Given the description of an element on the screen output the (x, y) to click on. 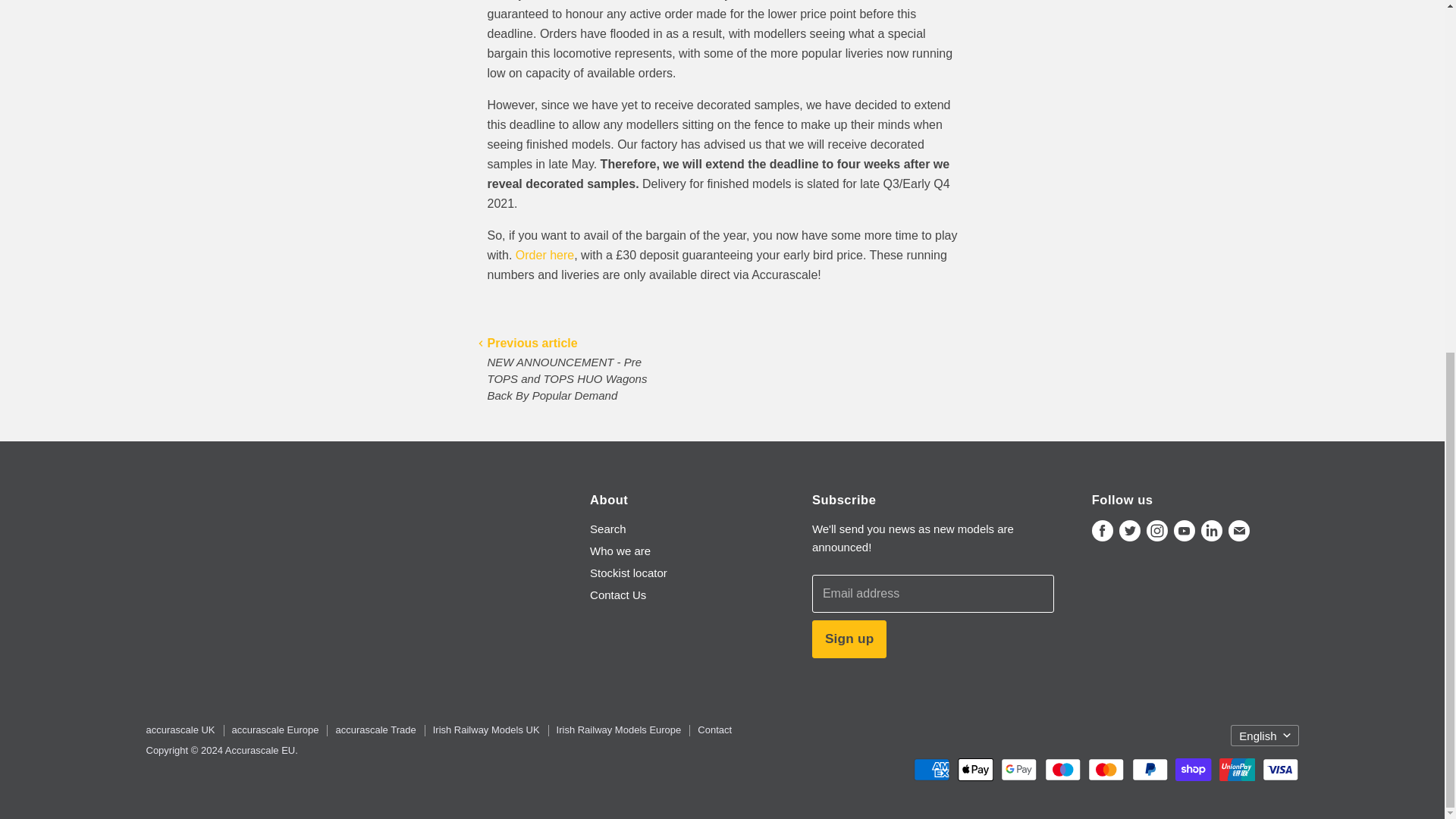
Facebook (1102, 530)
Find us on Youtube (1184, 530)
Instagram (1156, 530)
Find us on E-mail (1238, 530)
Find us on Facebook (1102, 530)
Twitter (1129, 530)
Contact (714, 729)
accurascale Europe (274, 729)
Irish Railway Models UK (486, 729)
Sign up (849, 638)
Order here (544, 254)
Find us on LinkedIn (1211, 530)
Contact Us (617, 594)
LinkedIn (1211, 530)
accurascale UK (179, 729)
